Given the description of an element on the screen output the (x, y) to click on. 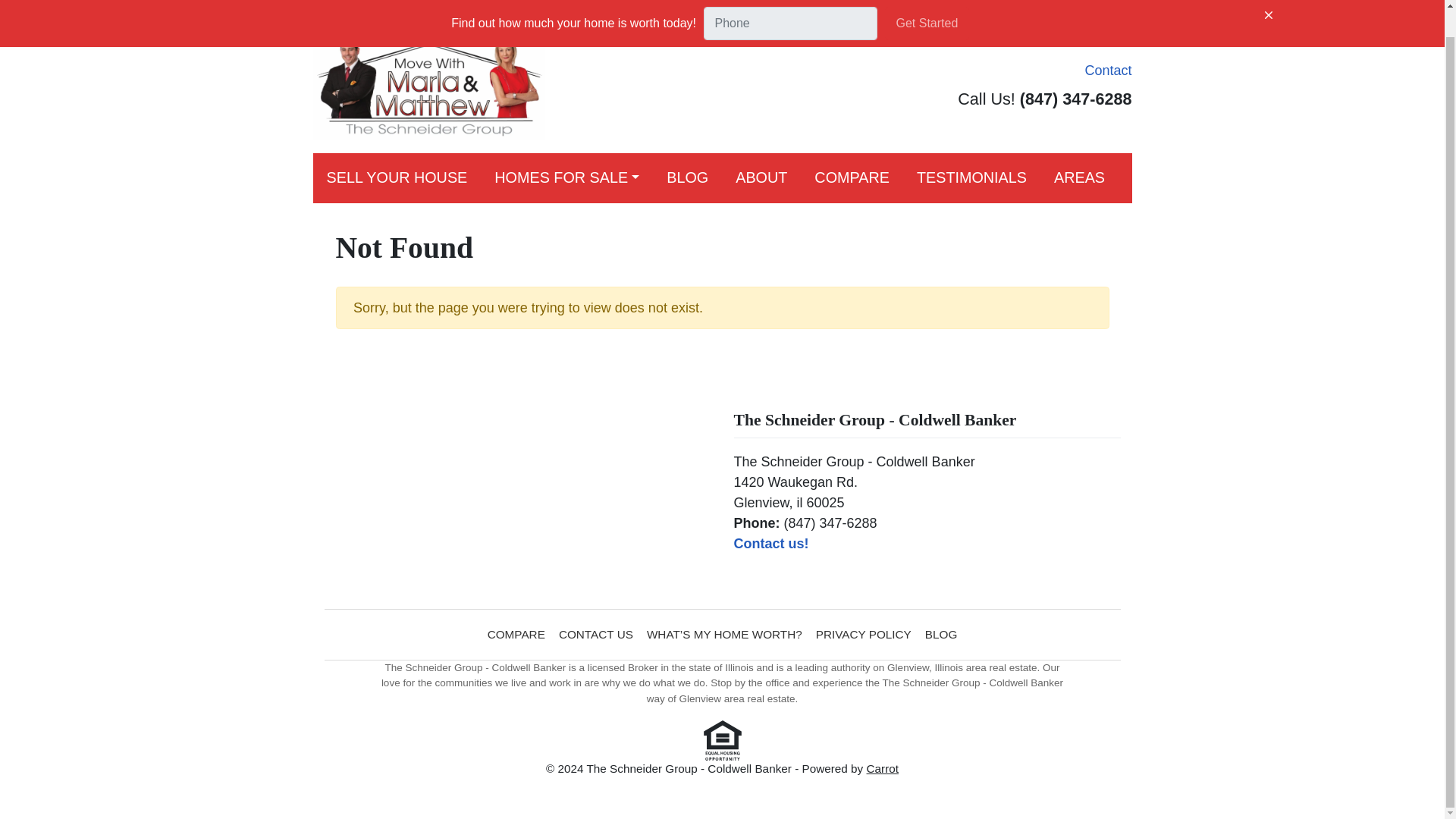
Sell Your House (396, 178)
Compare (851, 178)
BLOG (940, 634)
Get Started (927, 6)
Homes for Sale (566, 178)
Areas (1079, 178)
Contact (1104, 70)
SELL YOUR HOUSE (396, 178)
COMPARE (851, 178)
Get Started (927, 6)
